Given the description of an element on the screen output the (x, y) to click on. 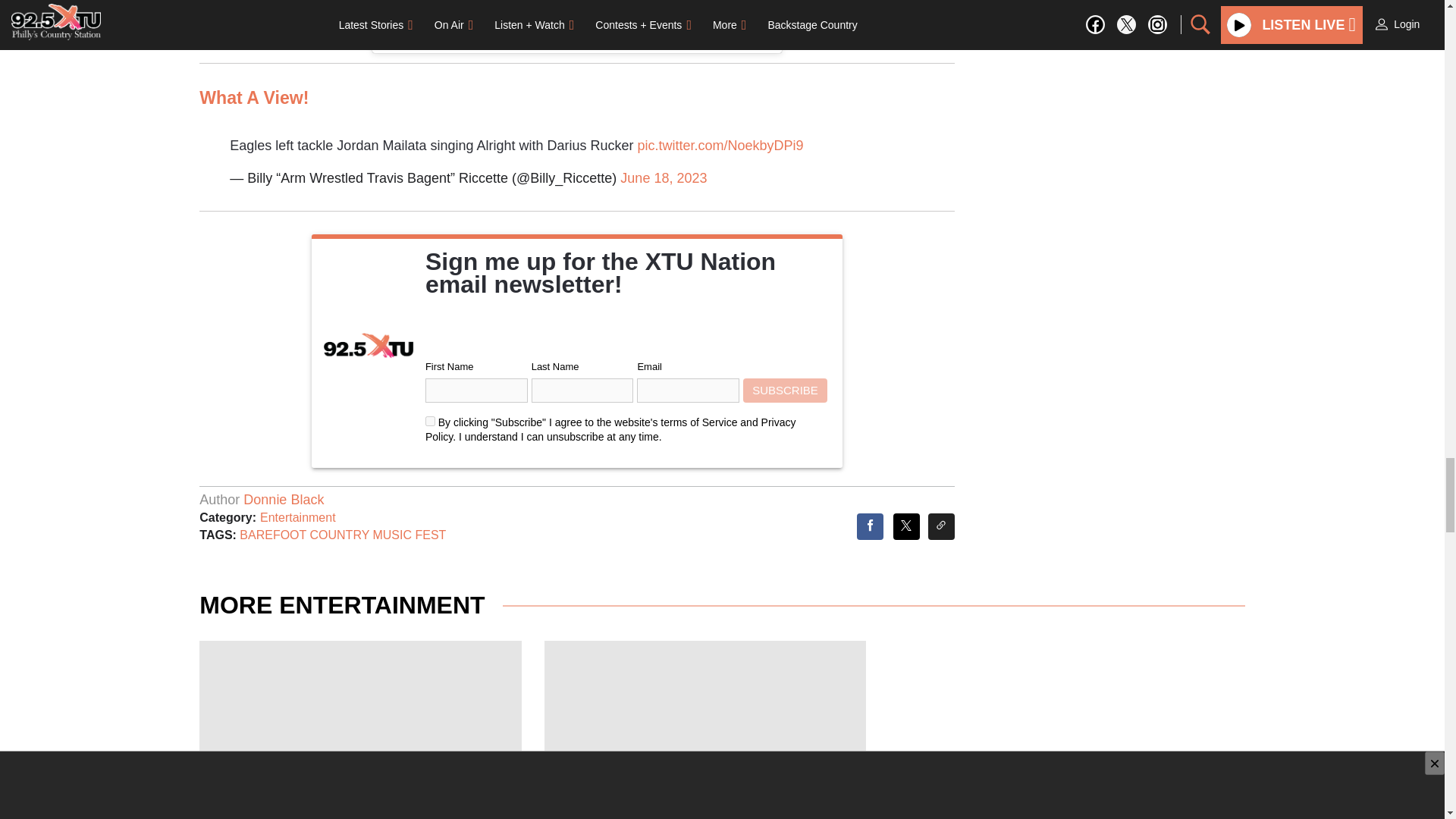
on (430, 420)
Donnie Black (283, 499)
